Given the description of an element on the screen output the (x, y) to click on. 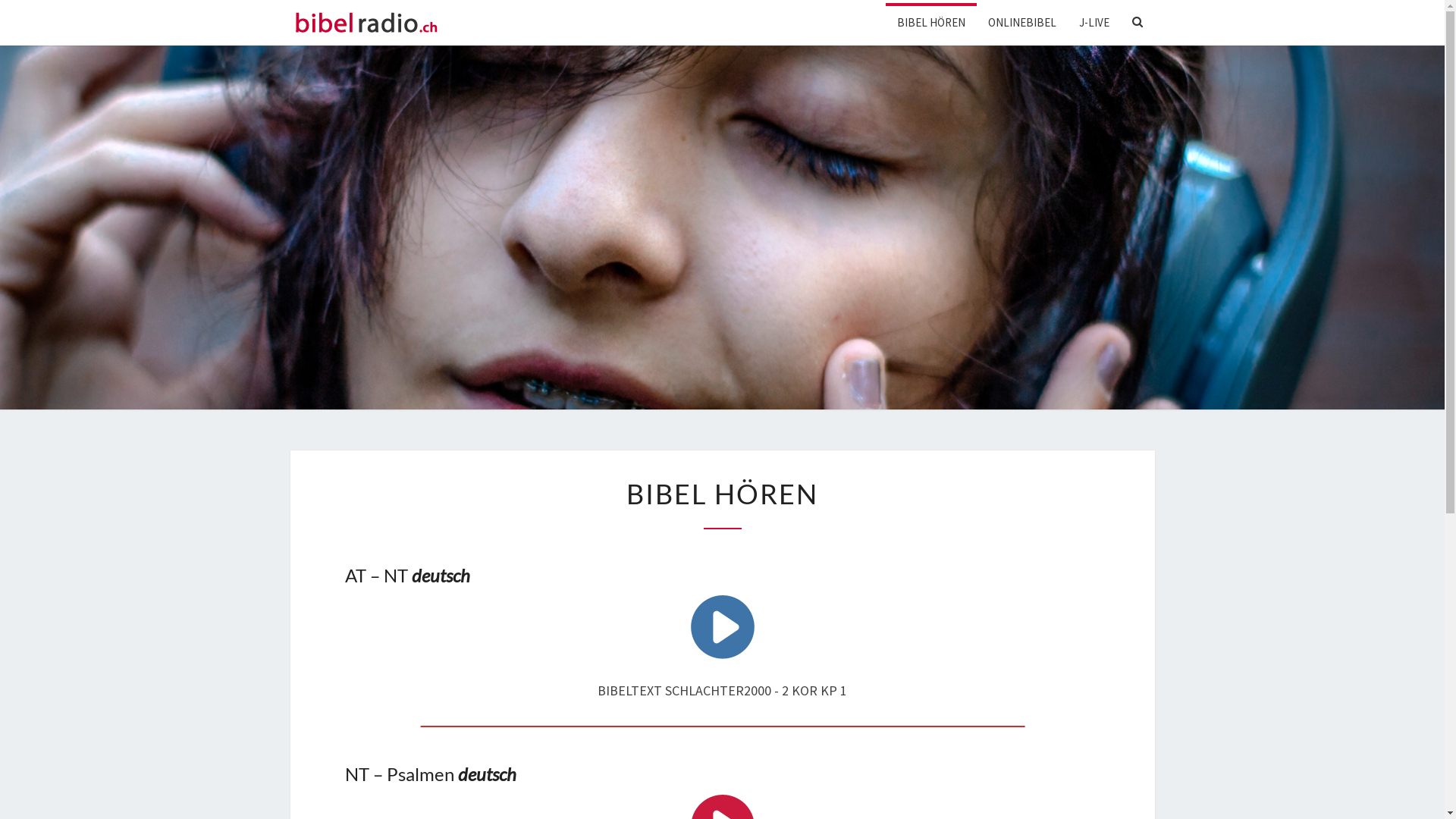
J-LIVE Element type: text (1093, 22)
ONLINEBIBEL Element type: text (1021, 22)
